Given the description of an element on the screen output the (x, y) to click on. 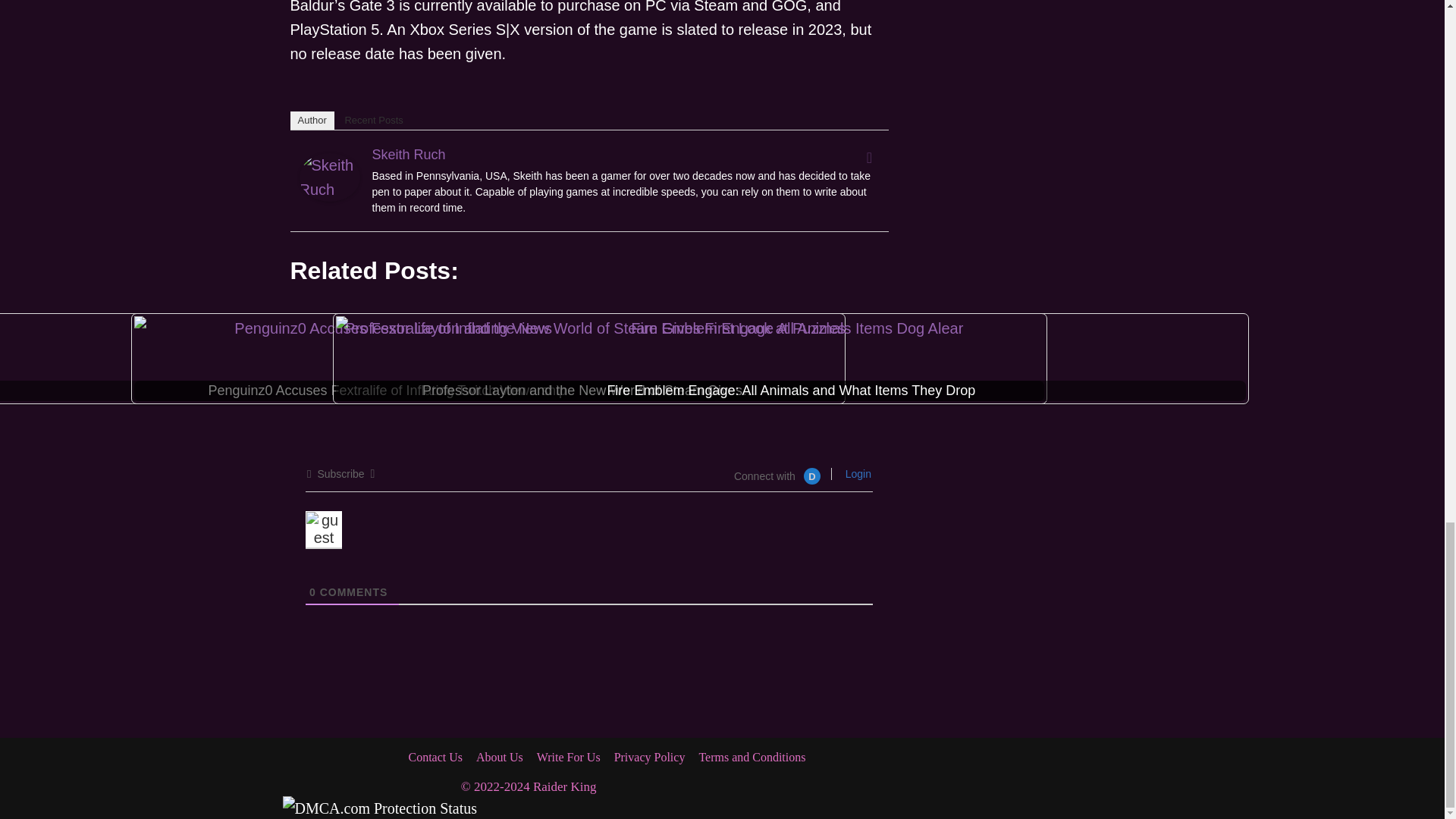
Author (311, 120)
Recent Posts (373, 120)
Twitter (868, 157)
Skeith Ruch (328, 196)
